Given the description of an element on the screen output the (x, y) to click on. 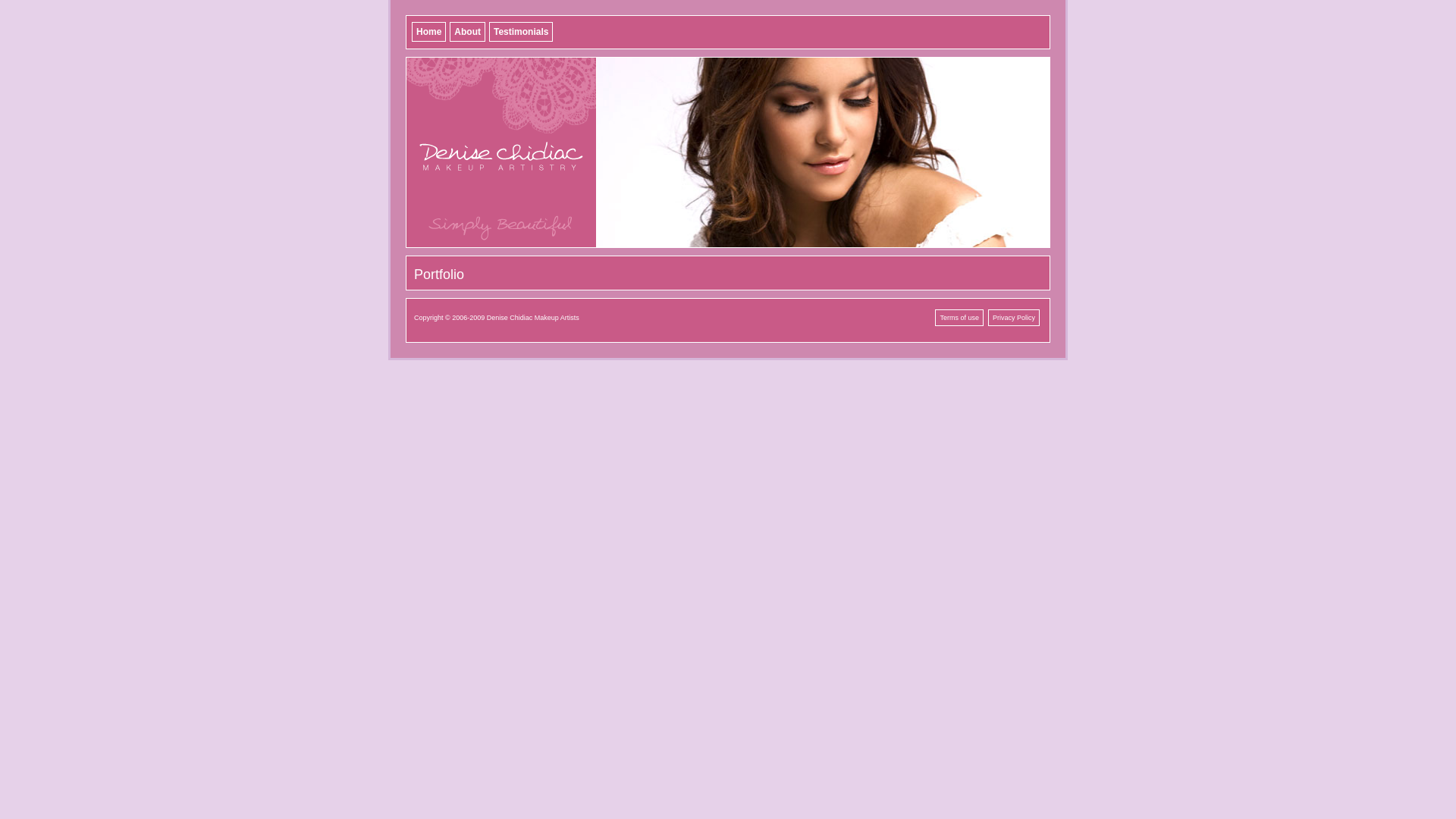
About Element type: text (467, 31)
Terms of use Element type: text (959, 317)
Home Element type: text (428, 31)
Privacy Policy Element type: text (1013, 317)
Testimonials Element type: text (520, 31)
